Given the description of an element on the screen output the (x, y) to click on. 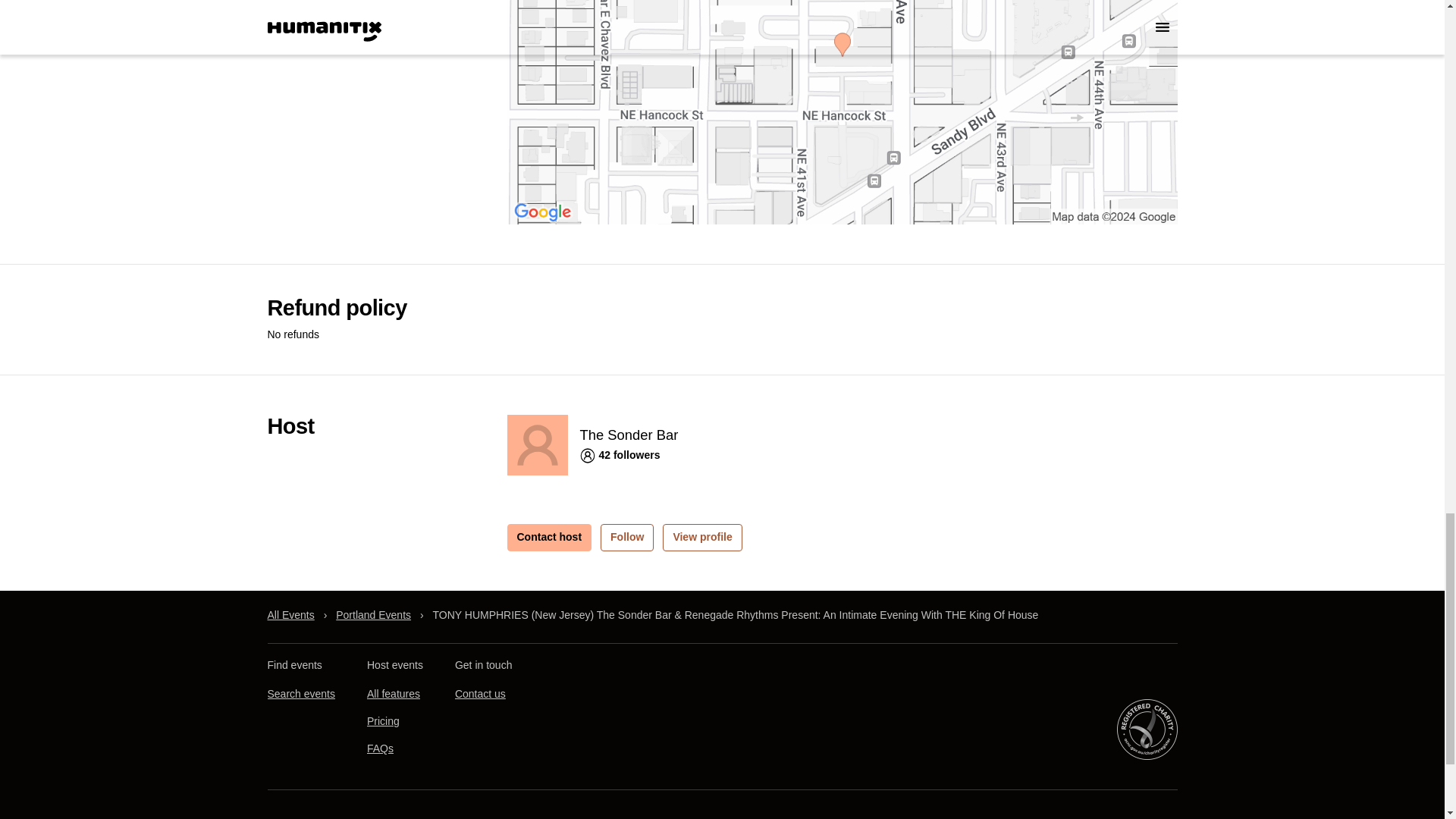
All features (393, 693)
View profile (701, 537)
Search events (300, 693)
Portland Events (373, 615)
Contact host (548, 537)
All Events (290, 615)
Follow (626, 537)
Pricing (382, 720)
